Given the description of an element on the screen output the (x, y) to click on. 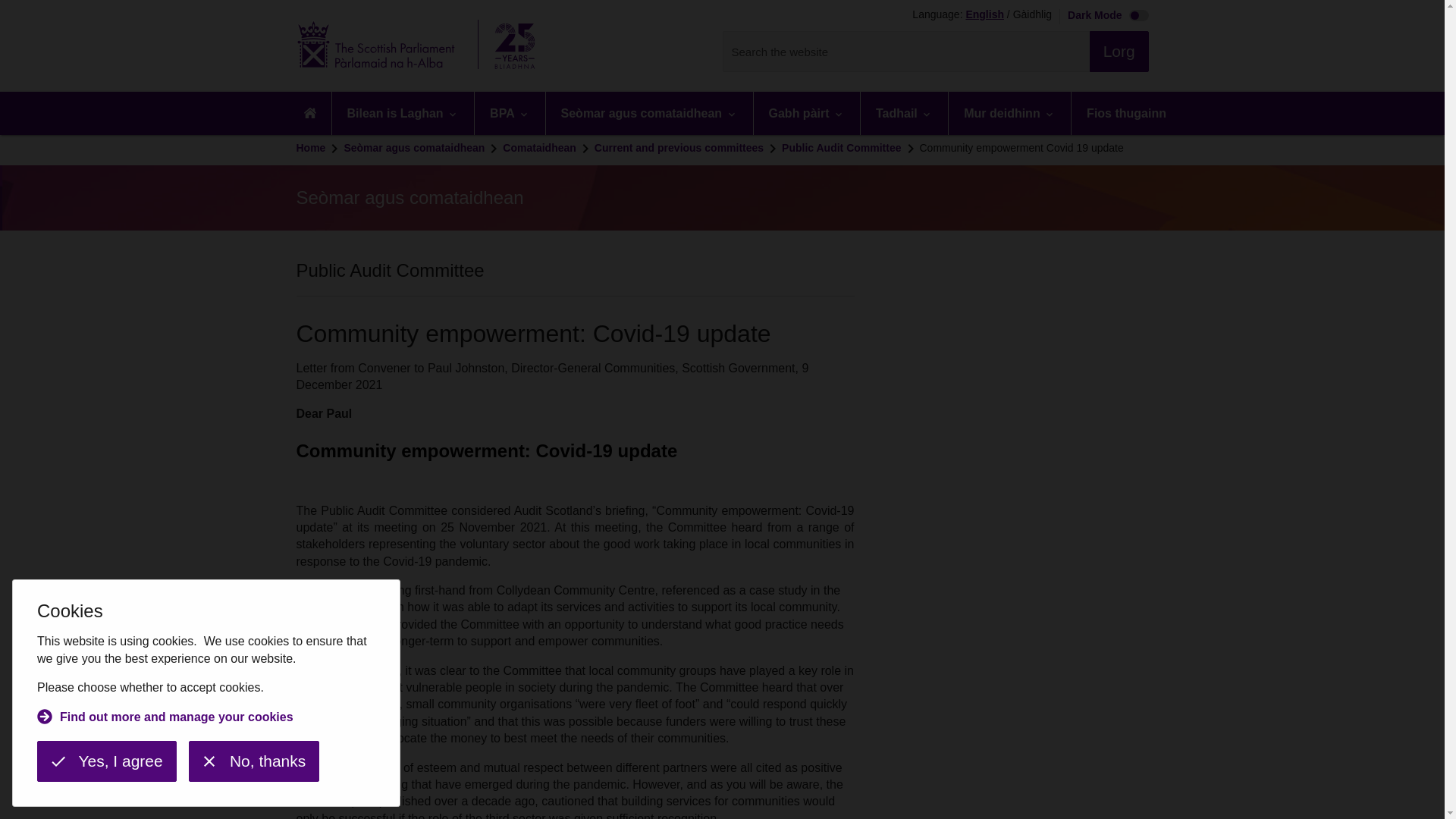
English (984, 15)
BPA (509, 113)
Bilean is Laghan (402, 113)
Dark Mode (1103, 16)
No, thanks (252, 761)
Find out more and manage your cookies (165, 718)
Scottish Parliament Website home (419, 45)
Yes, I agree (106, 761)
Lorg (1118, 51)
